Given the description of an element on the screen output the (x, y) to click on. 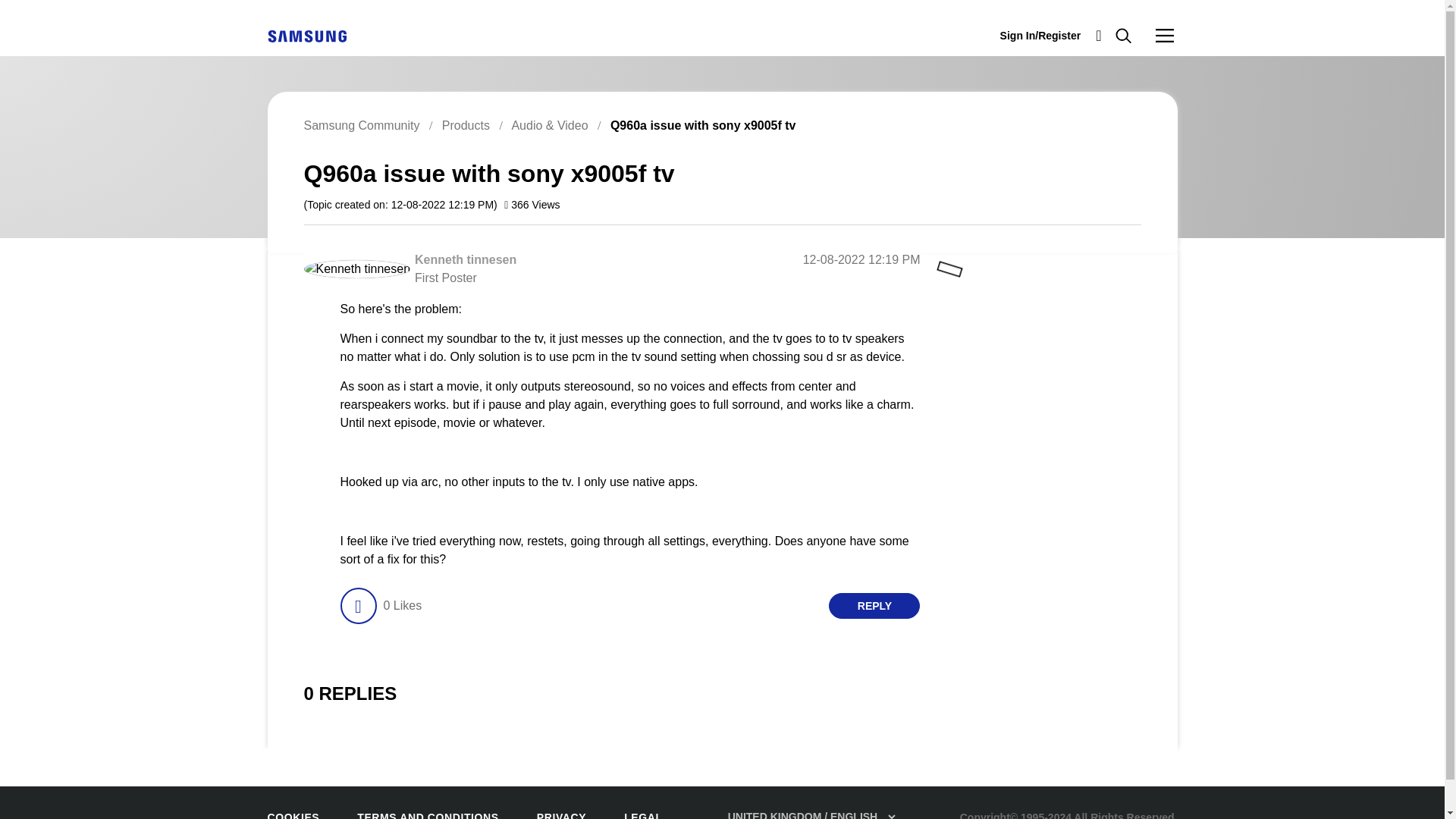
Community (1164, 35)
English (306, 36)
Samsung Community (360, 124)
PRIVACY (561, 815)
The total number of likes this post has received. (401, 606)
TERMS AND CONDITIONS (426, 815)
Kenneth tinnesen (356, 269)
Kenneth tinnesen (465, 259)
Products (465, 124)
Click here to give likes to this post. (357, 606)
REPLY (874, 605)
English (306, 34)
LEGAL (643, 815)
COOKIES (292, 815)
